Given the description of an element on the screen output the (x, y) to click on. 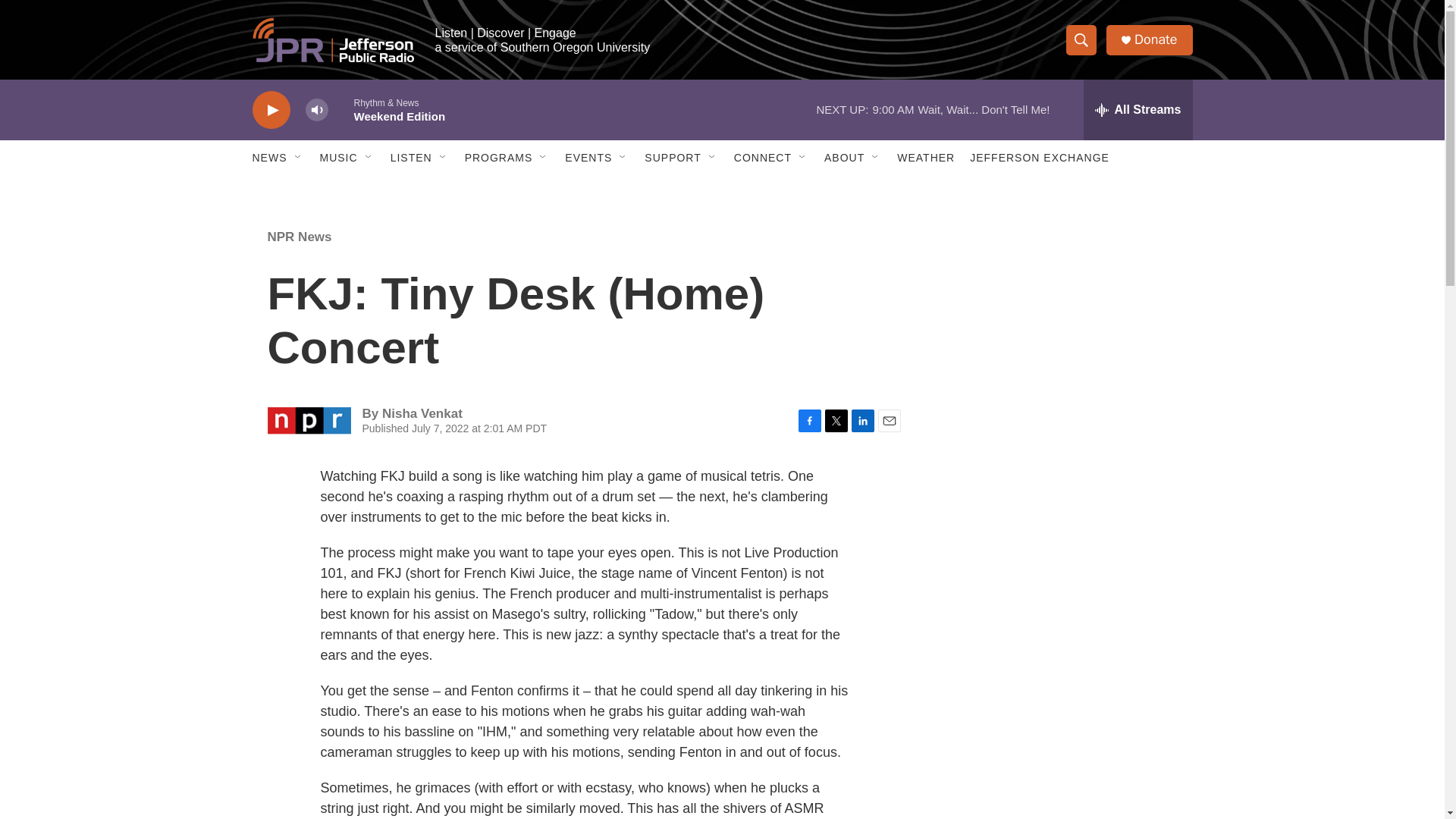
3rd party ad content (1062, 536)
3rd party ad content (1062, 740)
3rd party ad content (1062, 316)
